Given the description of an element on the screen output the (x, y) to click on. 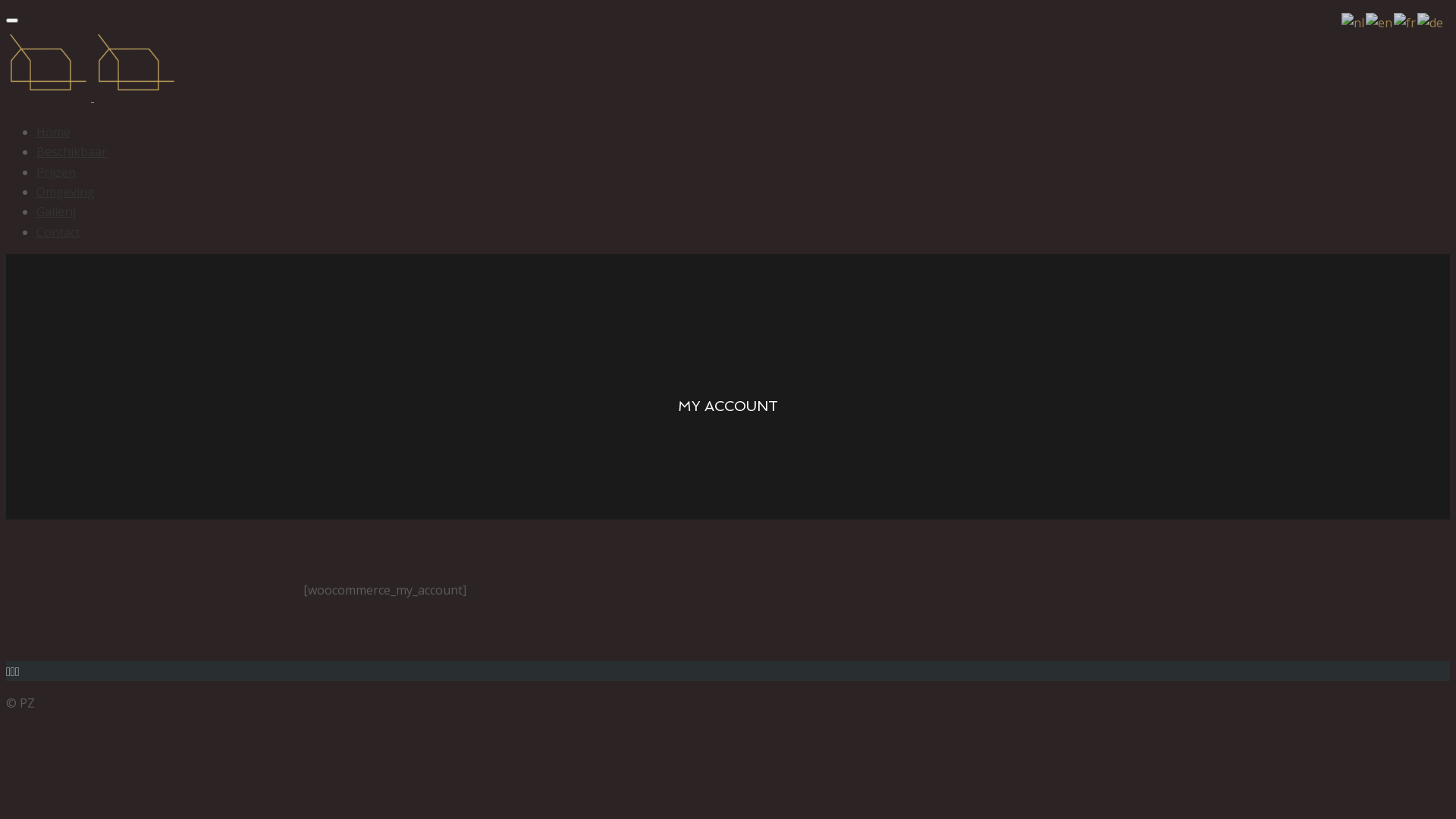
Dutch Element type: hover (1353, 20)
Gallerij Element type: text (55, 211)
Omgeving Element type: text (65, 191)
French Element type: hover (1405, 20)
Prijzen Element type: text (55, 171)
German Element type: hover (1430, 20)
Beschikbaar Element type: text (71, 151)
Contact Element type: text (58, 231)
English Element type: hover (1379, 20)
Home Element type: text (53, 131)
Toggle navigation Element type: text (12, 20)
